Given the description of an element on the screen output the (x, y) to click on. 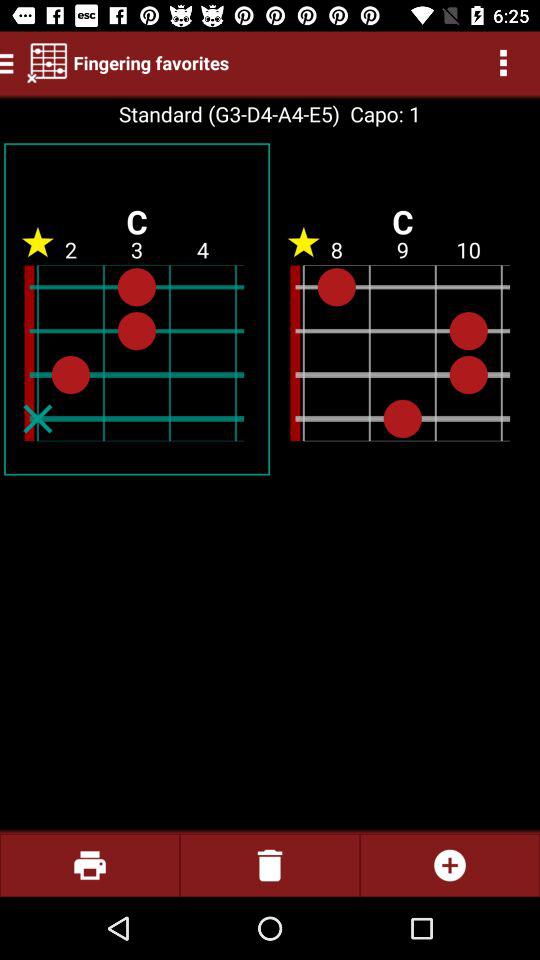
press icon to the left of the fingering favorites (47, 62)
